Given the description of an element on the screen output the (x, y) to click on. 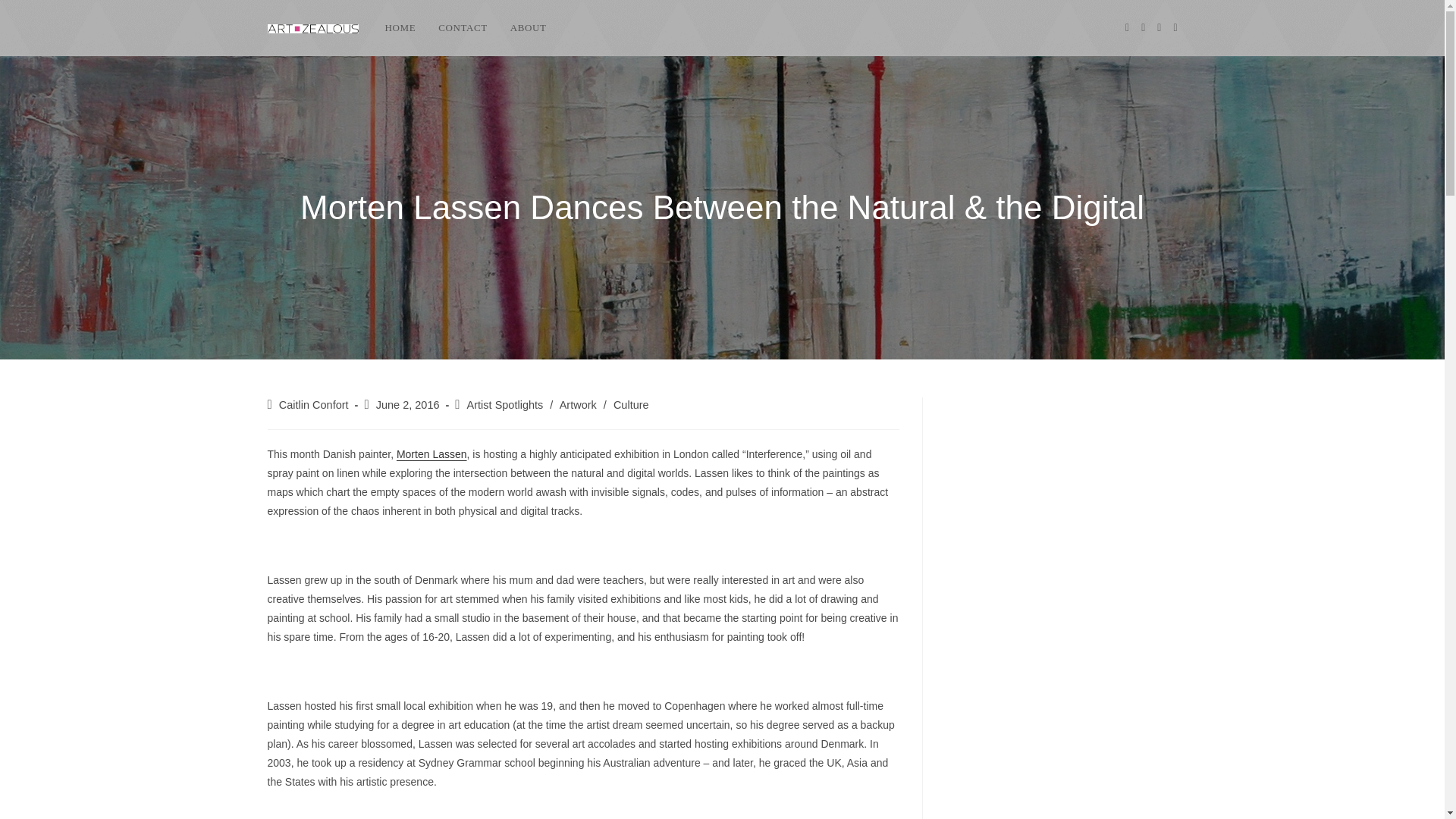
Posts by Caitlin Confort (314, 404)
CONTACT (462, 28)
Artwork (577, 404)
Caitlin Confort (314, 404)
Morten Lassen (431, 453)
Culture (630, 404)
Artist Spotlights (505, 404)
HOME (399, 28)
ABOUT (528, 28)
